Given the description of an element on the screen output the (x, y) to click on. 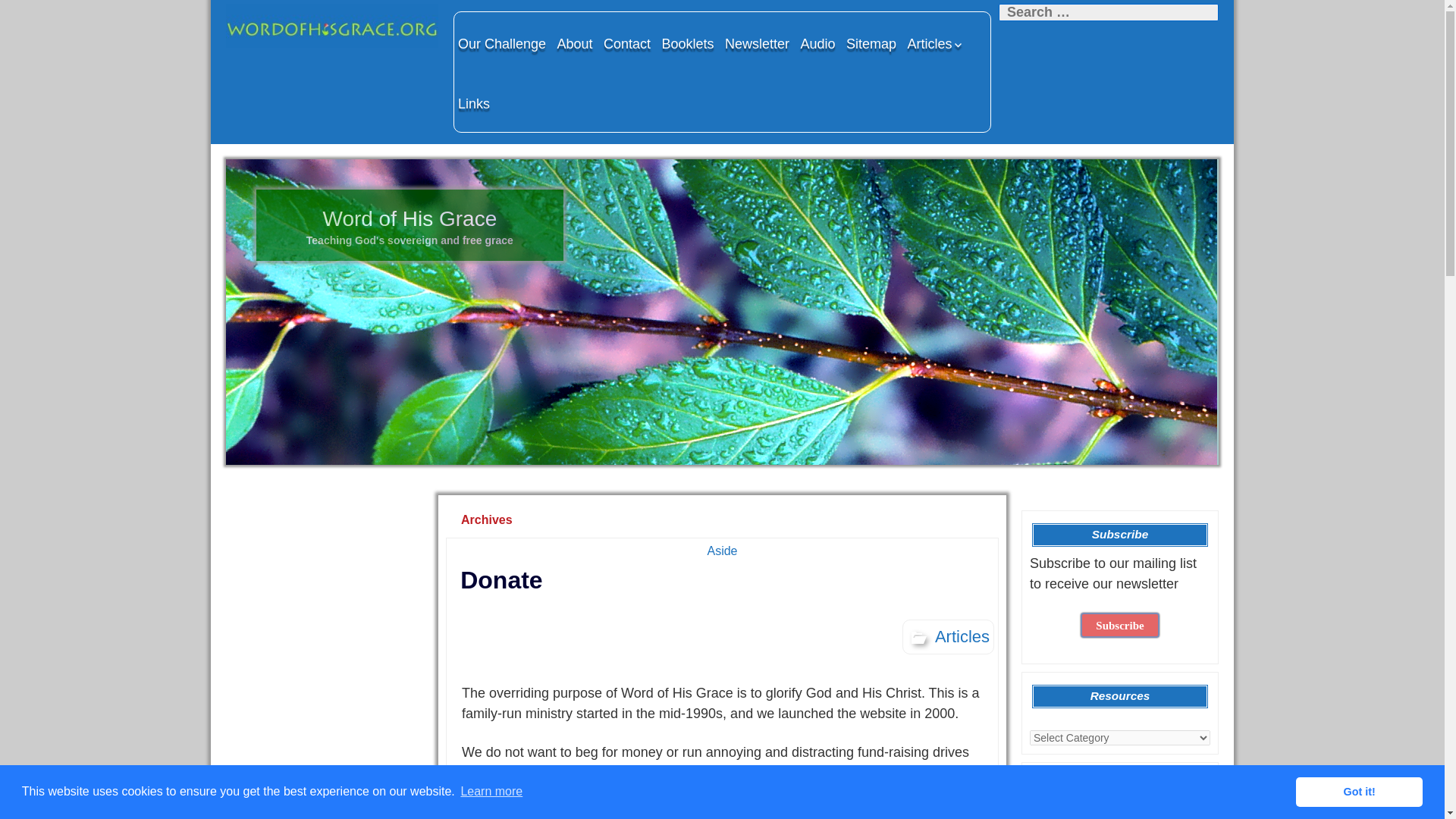
Sitemap (871, 43)
Subscribe to our newsletter (1119, 625)
Our Challenge (502, 43)
Audio (818, 43)
Word of His Grace (331, 25)
Newsletter (756, 43)
Booklets (687, 43)
Articles (936, 43)
About (574, 43)
Contact (626, 43)
